Given the description of an element on the screen output the (x, y) to click on. 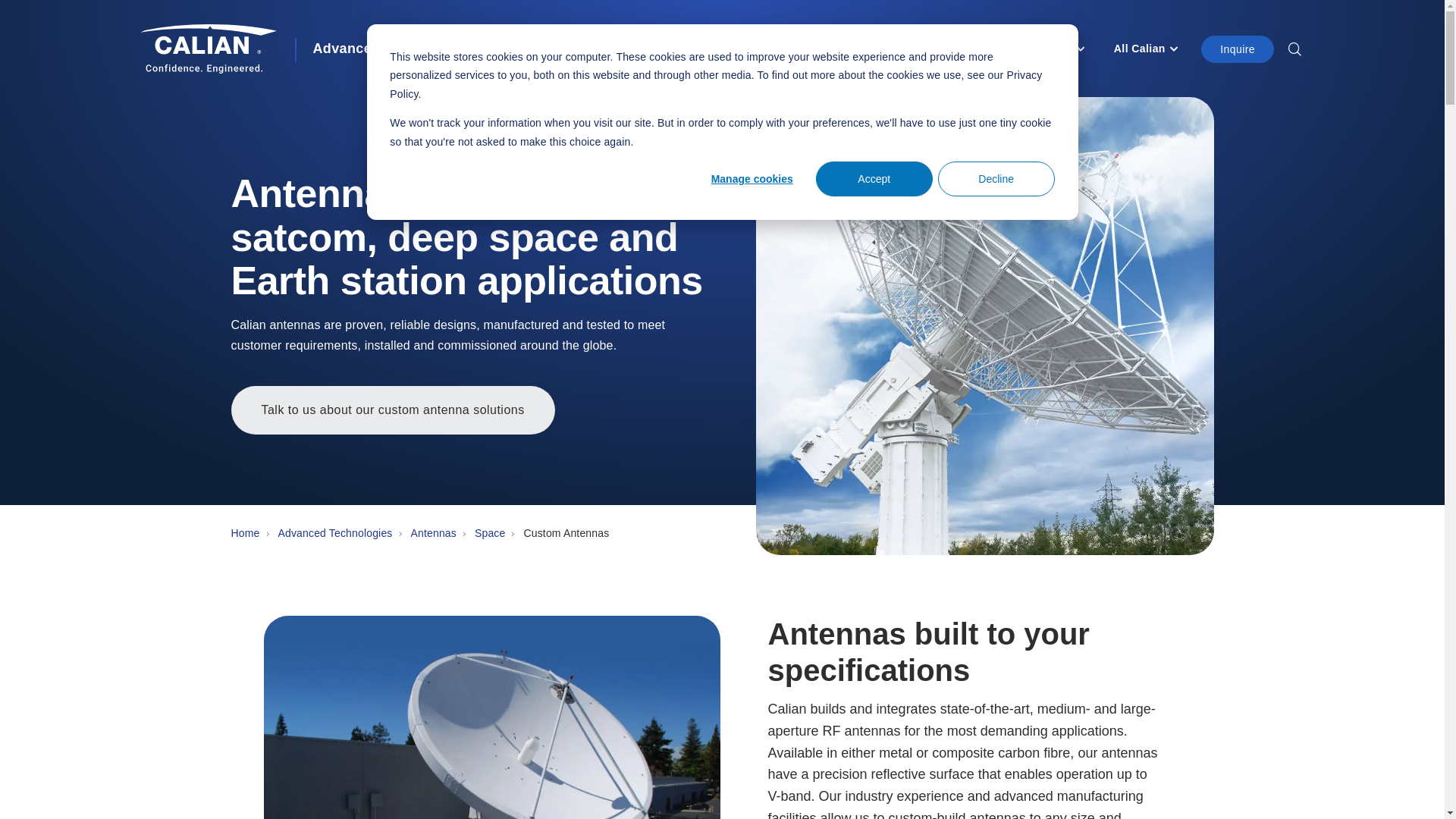
Products (569, 48)
Advanced Technologies (393, 48)
